Given the description of an element on the screen output the (x, y) to click on. 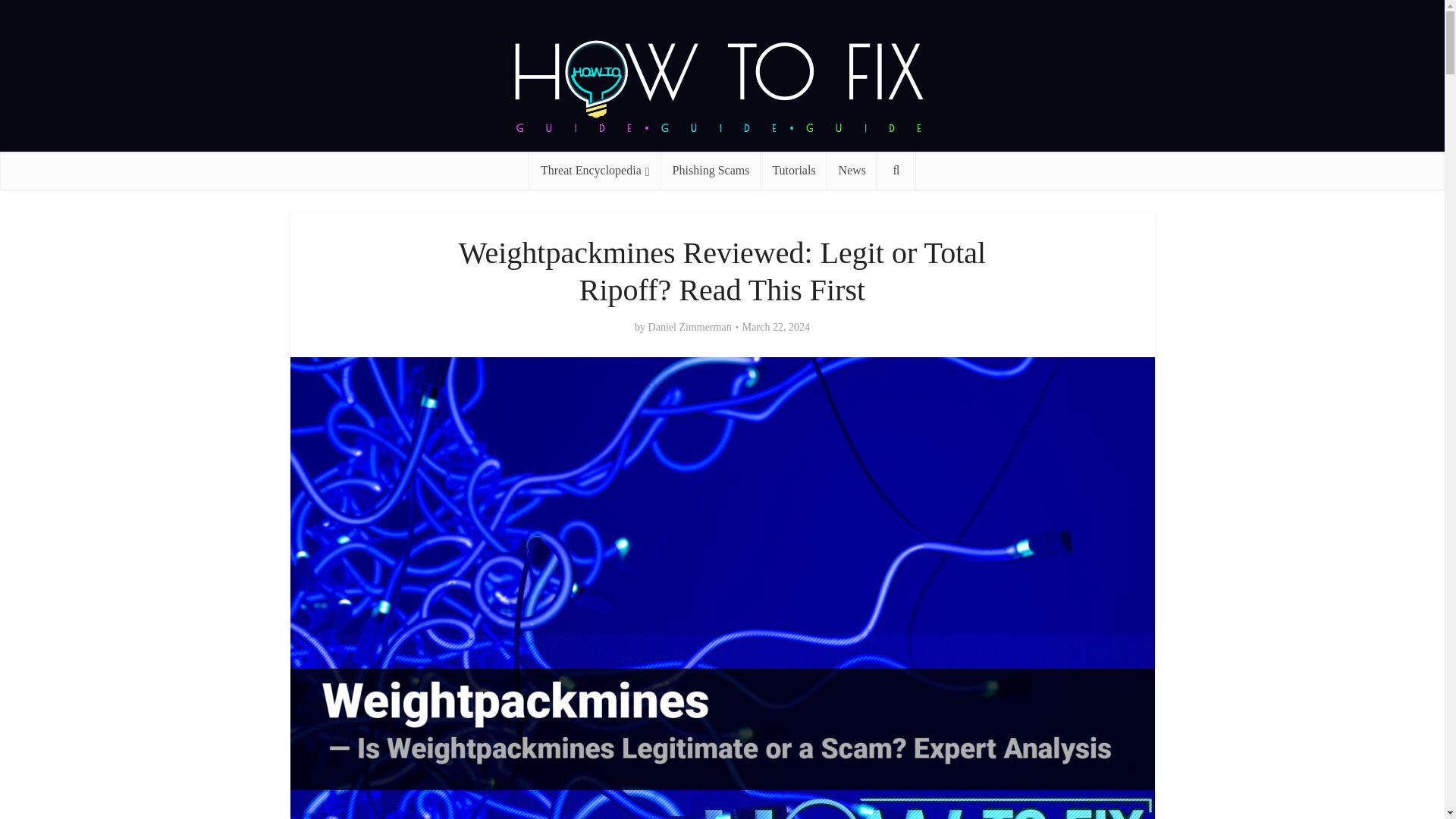
Tutorials (793, 170)
Threat Encyclopedia (595, 170)
Phishing Scams (711, 170)
Daniel Zimmerman (689, 327)
News (852, 170)
